Given the description of an element on the screen output the (x, y) to click on. 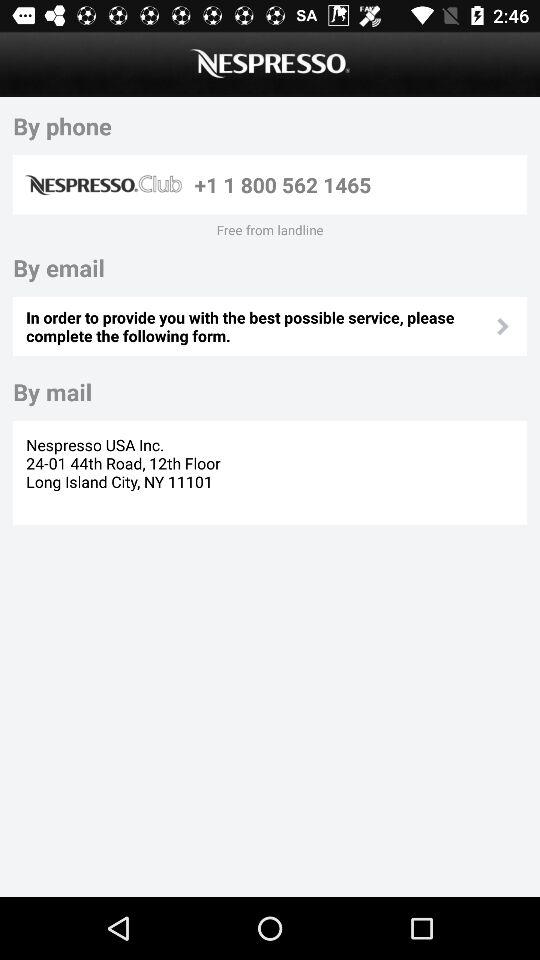
flip to in order to (259, 326)
